Given the description of an element on the screen output the (x, y) to click on. 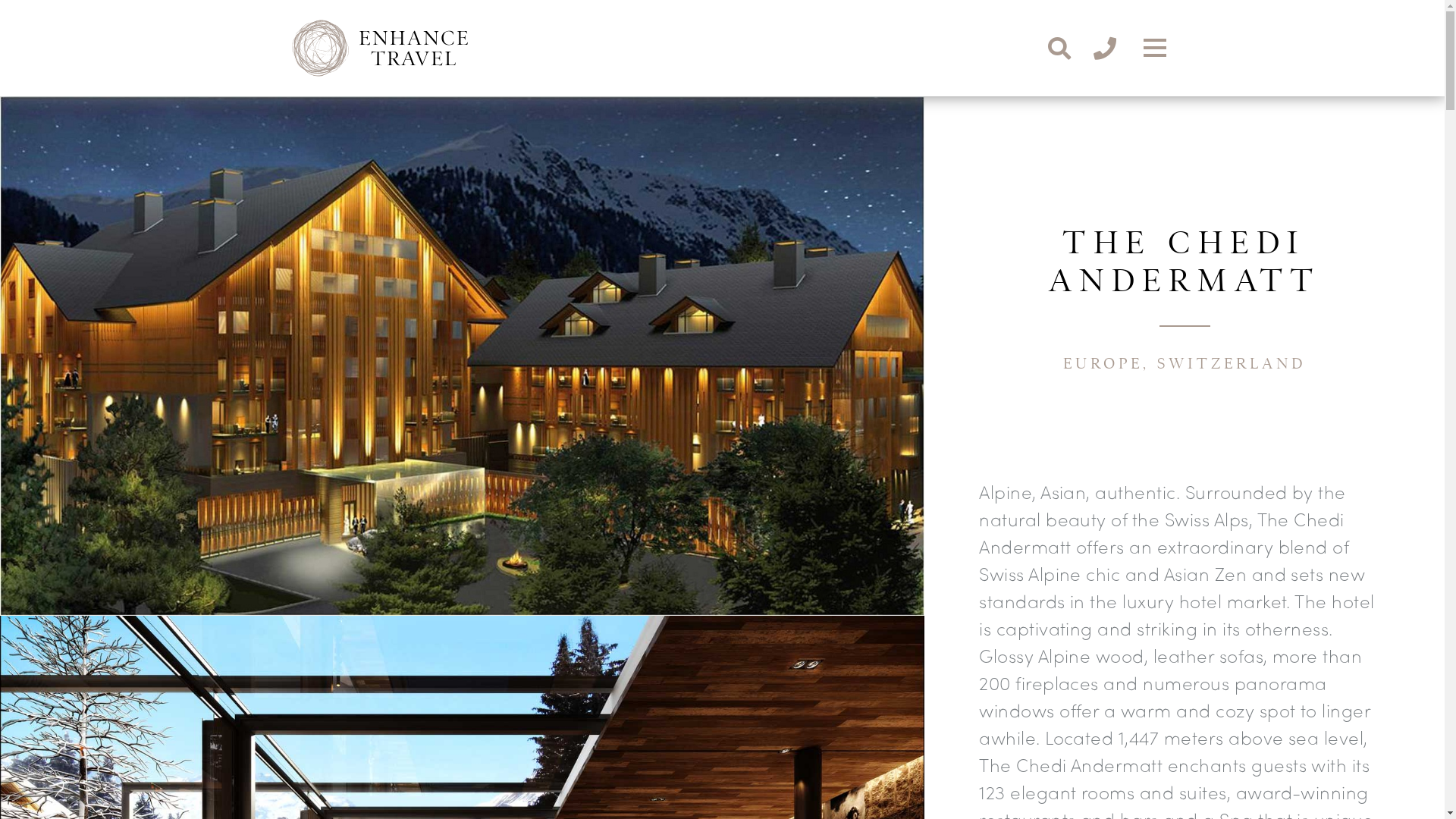
EUROPE Element type: text (1102, 363)
SWITZERLAND Element type: text (1231, 363)
